Given the description of an element on the screen output the (x, y) to click on. 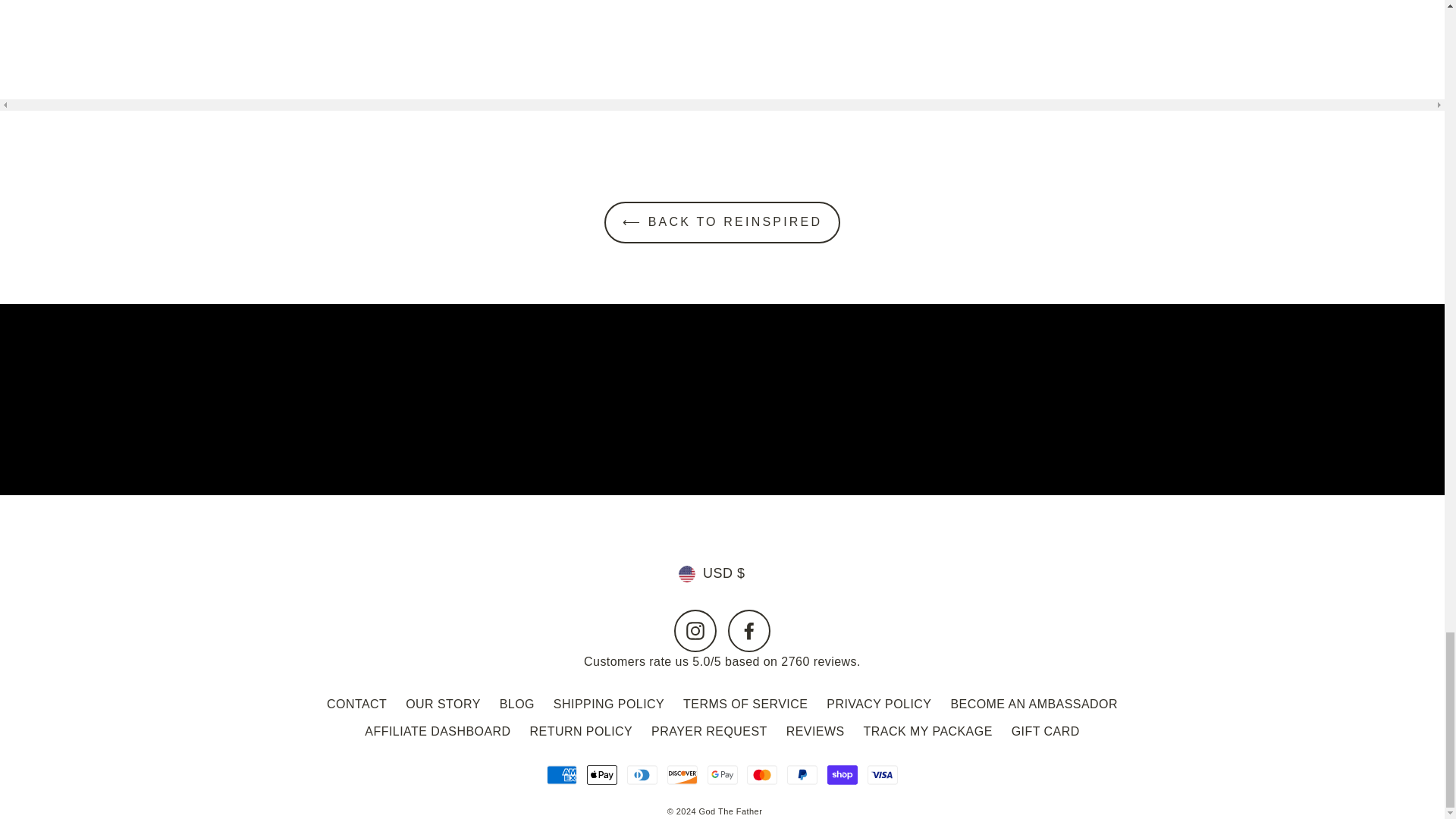
Apple Pay (601, 775)
Shop Pay (842, 775)
American Express (561, 775)
God The Father on Instagram (695, 630)
Google Pay (721, 775)
God The Father on Facebook (749, 630)
Discover (681, 775)
Diners Club (642, 775)
Mastercard (761, 775)
Visa (882, 775)
